Given the description of an element on the screen output the (x, y) to click on. 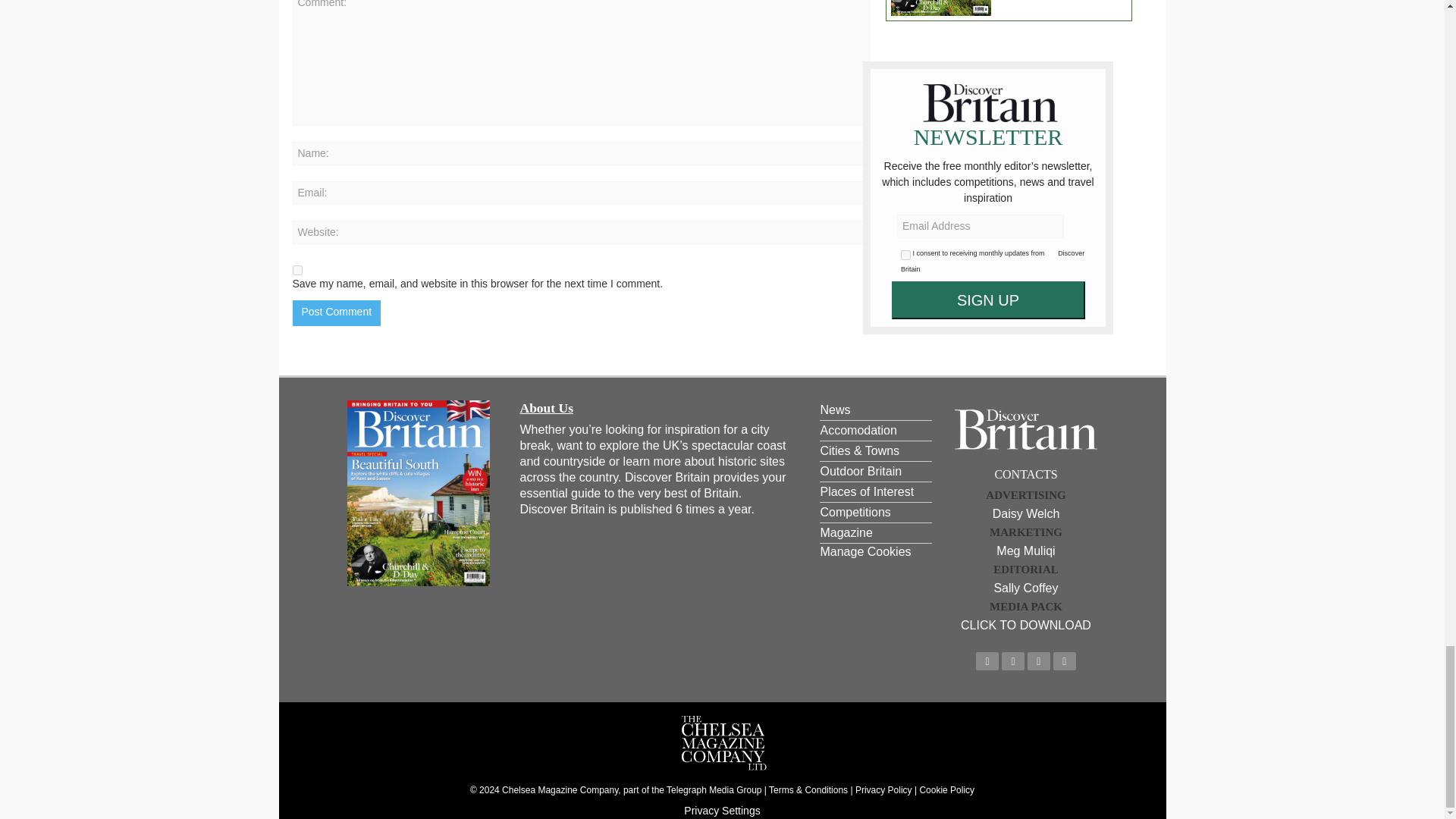
Facebook (986, 660)
yes (297, 270)
Post Comment (336, 312)
Discover Britain (1026, 429)
